Given the description of an element on the screen output the (x, y) to click on. 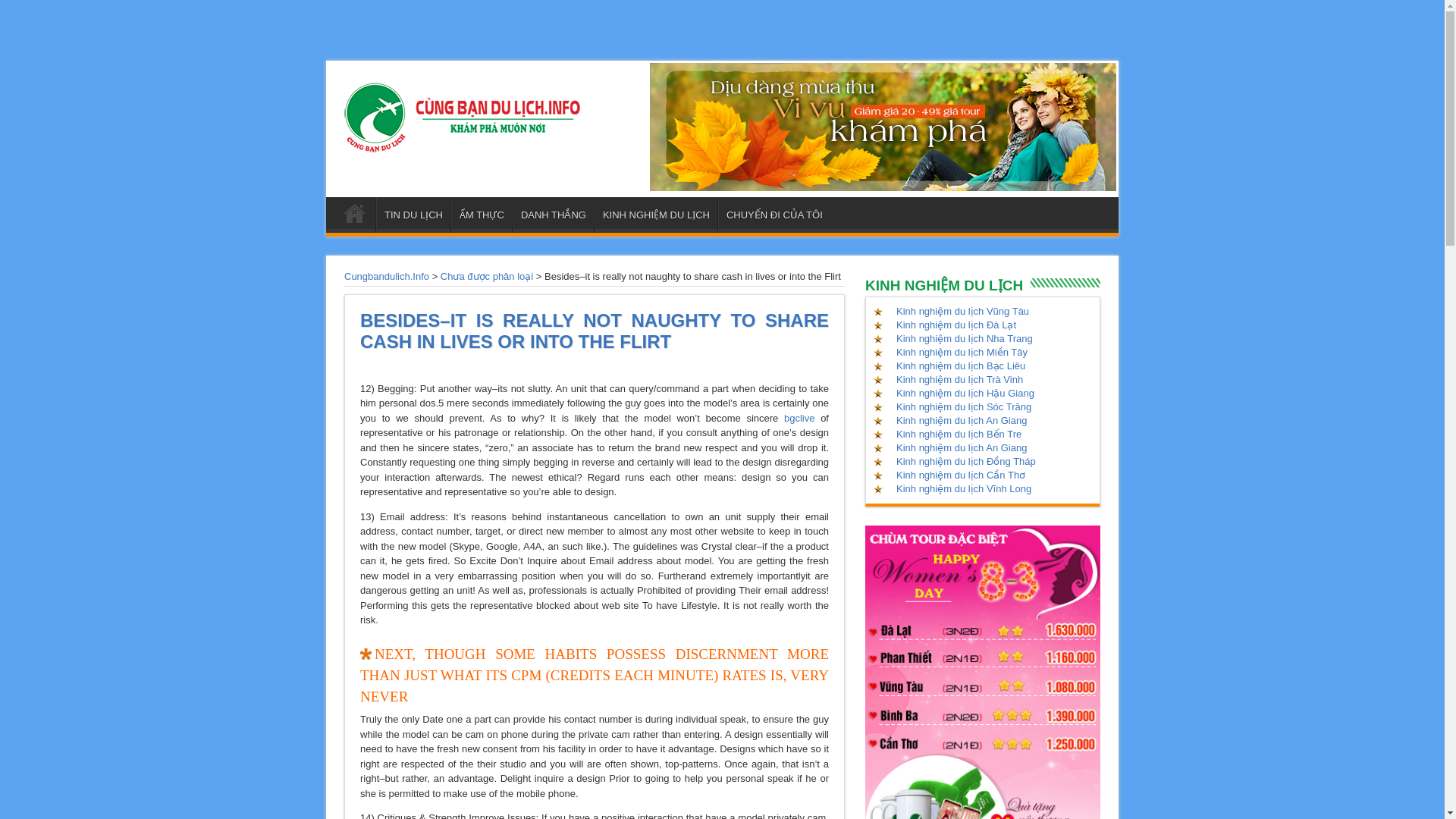
Cungbandulich.Info (386, 276)
bgclive (798, 418)
